Given the description of an element on the screen output the (x, y) to click on. 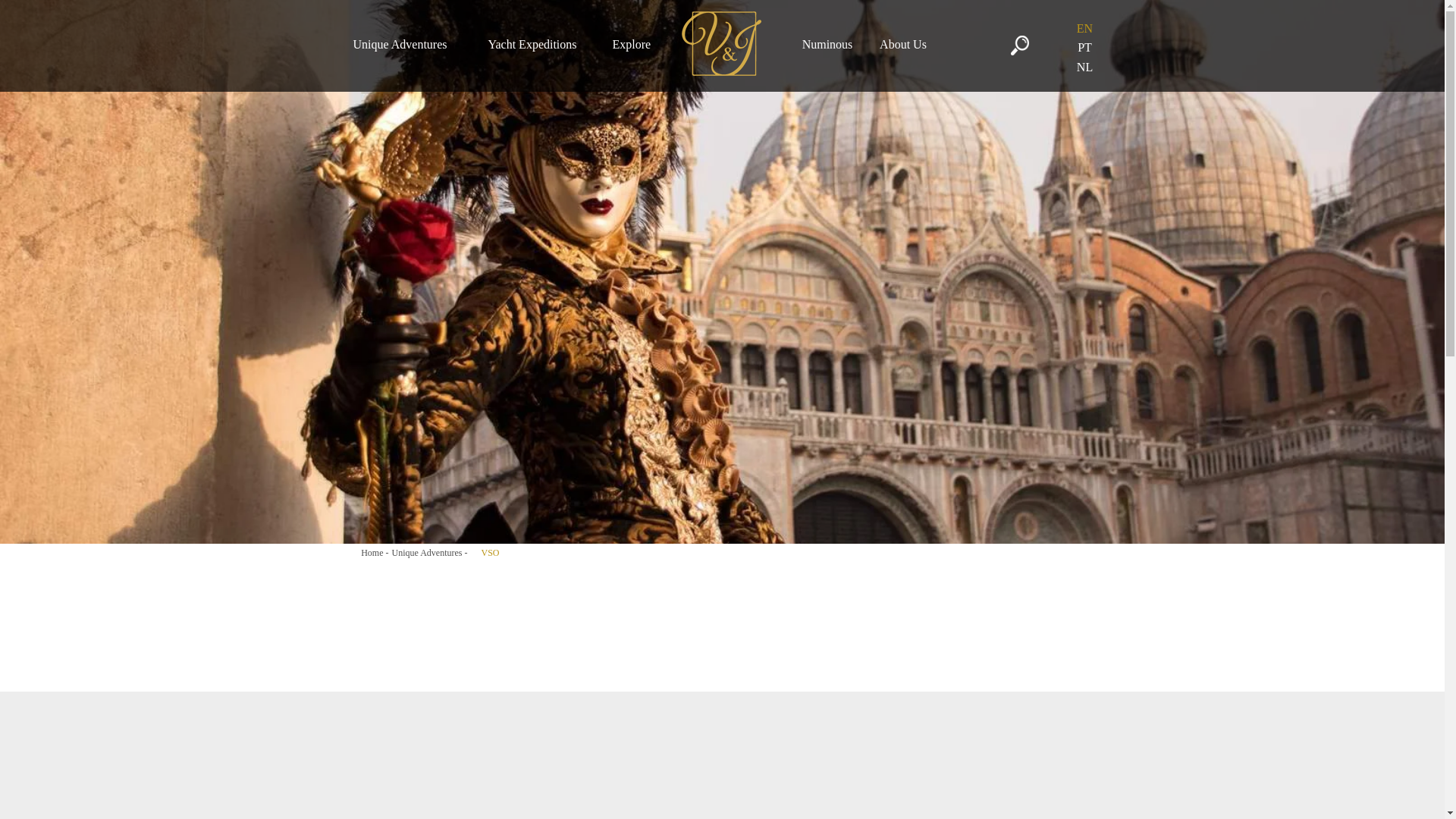
Unique Adventures (408, 44)
Home - (374, 552)
About Us (903, 44)
Numinous (826, 44)
Explore (633, 44)
Unique Adventures - (429, 552)
Yacht Expeditions (537, 44)
VJ Logo (720, 44)
